Given the description of an element on the screen output the (x, y) to click on. 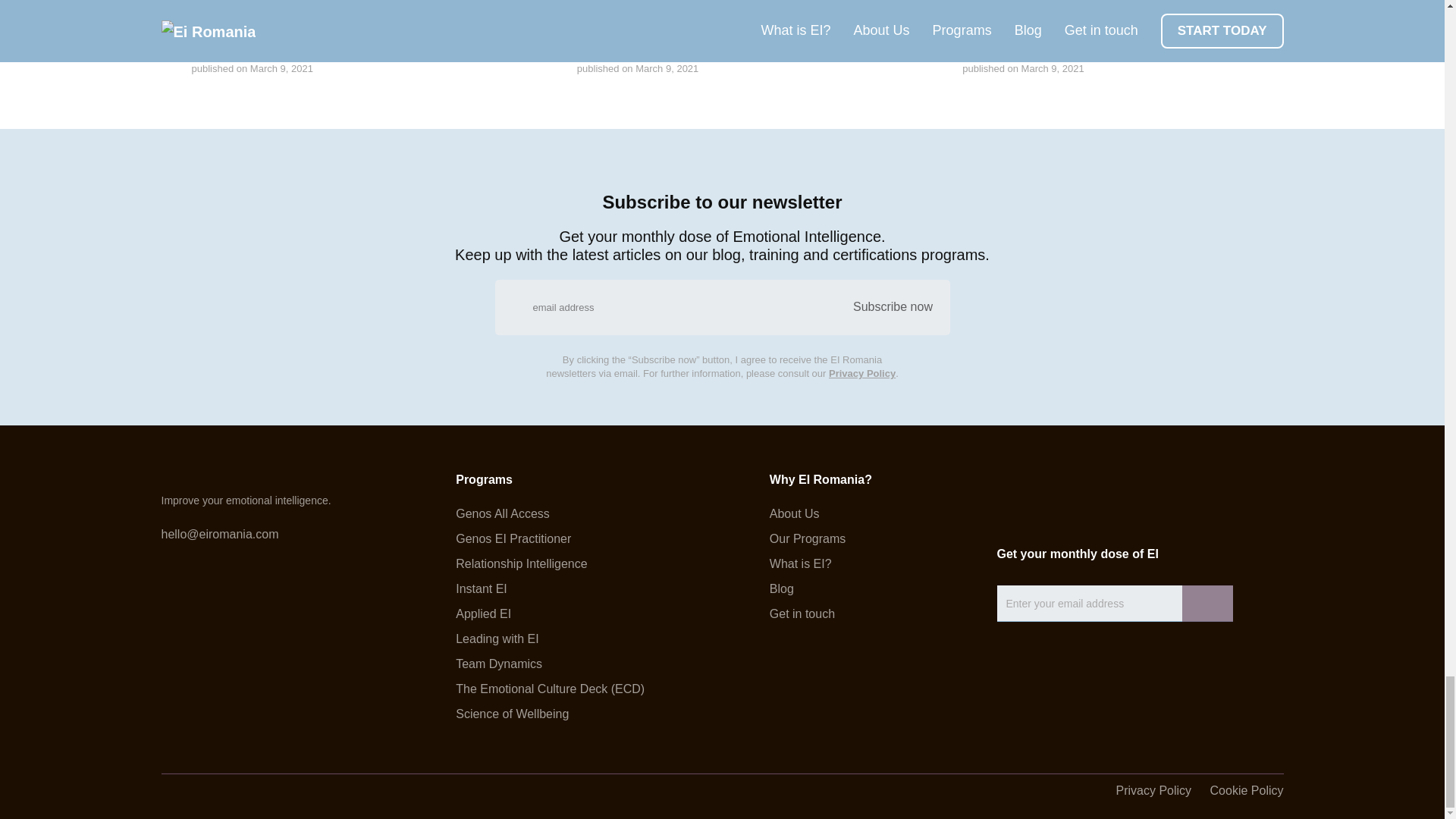
Applied EI (550, 613)
Team Dynamics (550, 664)
Genos EI Practitioner (550, 539)
Send (1205, 603)
Relationship Intelligence (550, 563)
Instant EI (550, 589)
Privacy Policy (861, 373)
Subscribe now (892, 307)
Subscribe now (892, 307)
Leading with EI (550, 639)
